Given the description of an element on the screen output the (x, y) to click on. 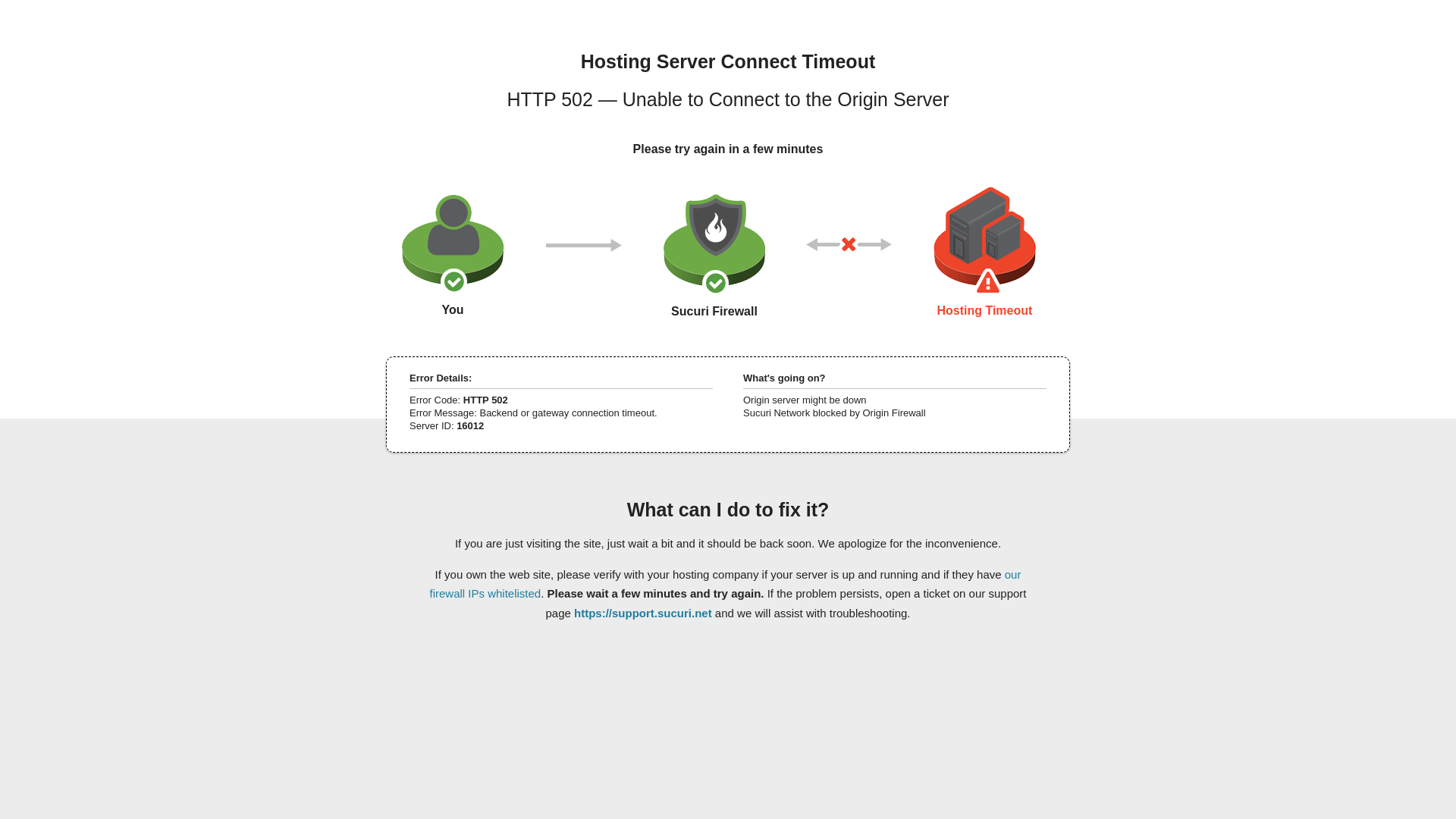
our firewall IPs whitelisted (724, 583)
